Given the description of an element on the screen output the (x, y) to click on. 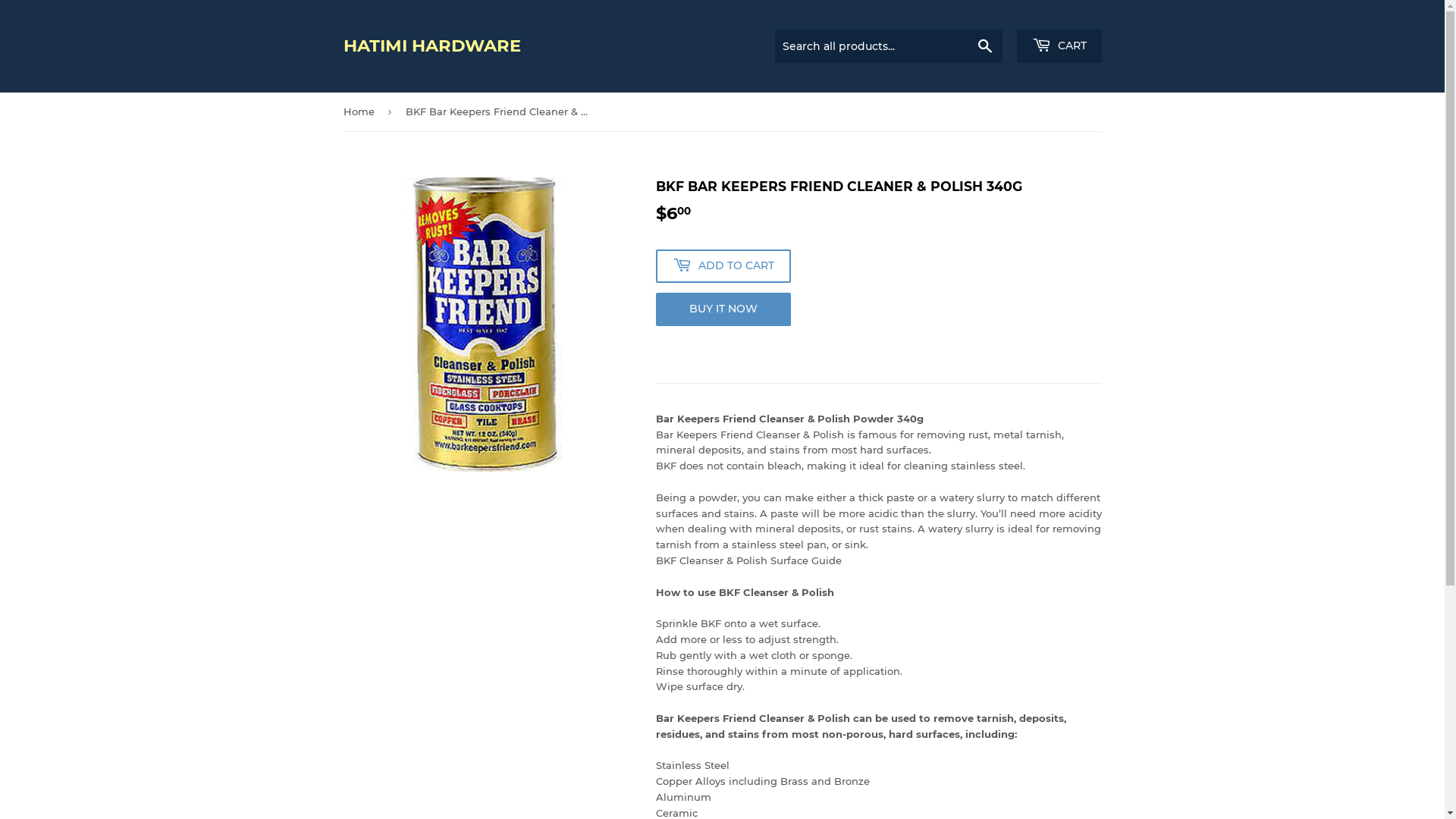
Home Element type: text (360, 111)
BUY IT NOW Element type: text (722, 309)
ADD TO CART Element type: text (722, 265)
CART Element type: text (1058, 45)
Search Element type: text (984, 46)
HATIMI HARDWARE Element type: text (531, 46)
